Given the description of an element on the screen output the (x, y) to click on. 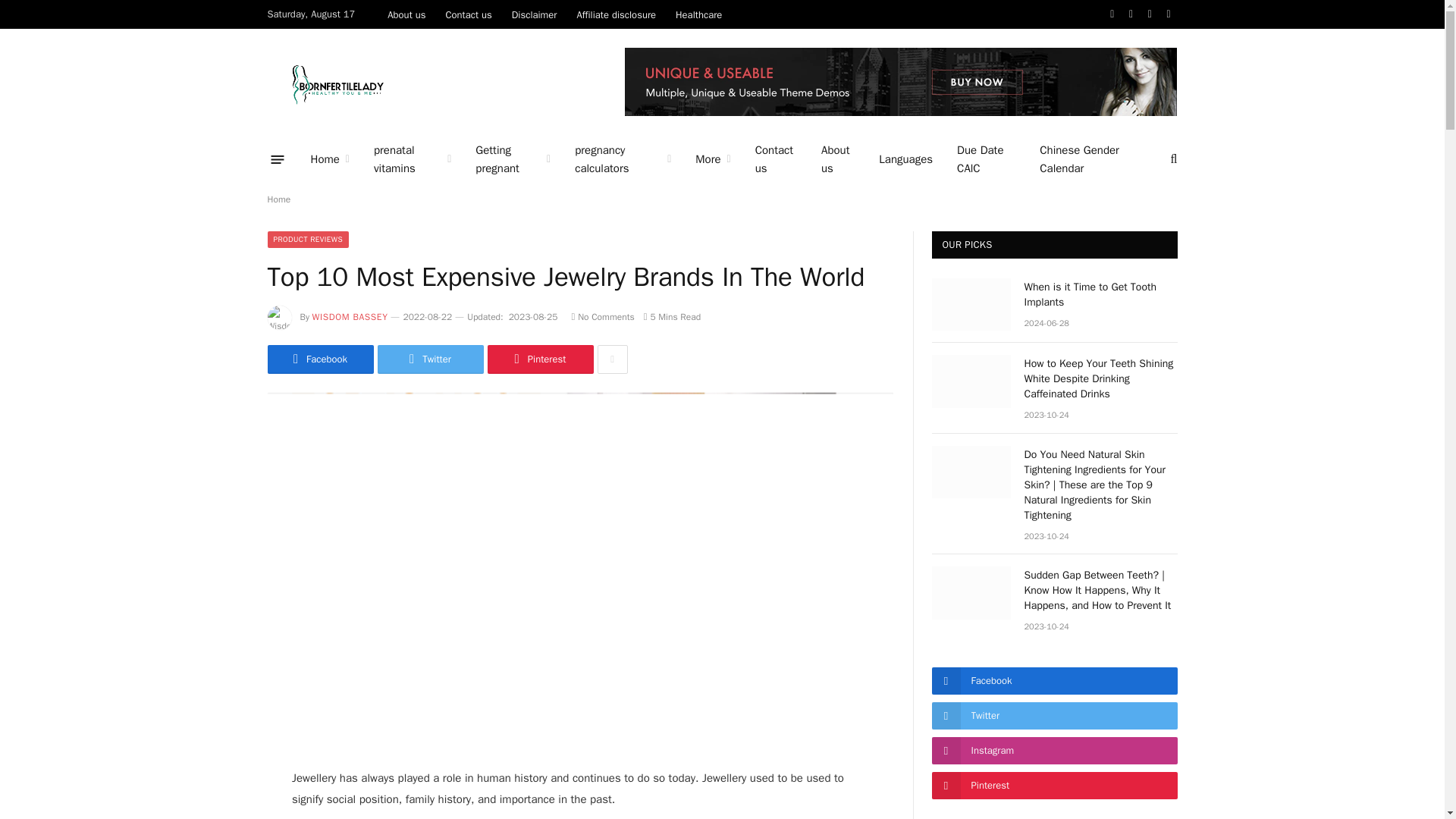
PRODUCT REVIEWS (307, 239)
Facebook (319, 358)
About us (837, 159)
Share on Facebook (319, 358)
Contact us (467, 14)
Pinterest (539, 358)
Disclaimer (534, 14)
Posts by Wisdom Bassey (350, 316)
Show More Social Sharing (611, 358)
Due Date CAlC (985, 159)
